Given the description of an element on the screen output the (x, y) to click on. 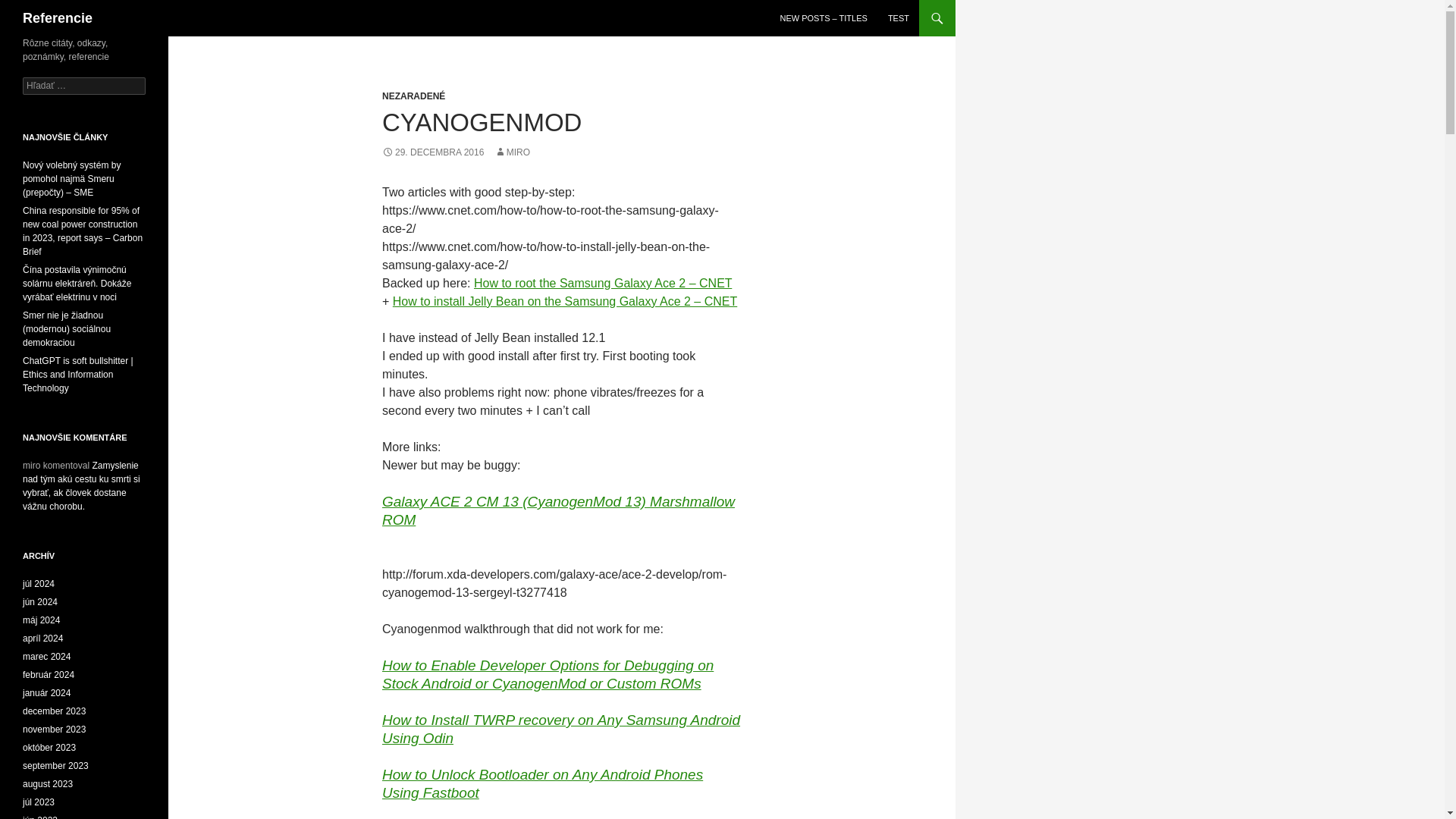
november 2023 (54, 728)
december 2023 (54, 710)
september 2023 (55, 765)
Referencie (58, 18)
TEST (898, 18)
august 2023 (47, 783)
marec 2024 (46, 656)
MIRO (512, 152)
29. DECEMBRA 2016 (432, 152)
